Given the description of an element on the screen output the (x, y) to click on. 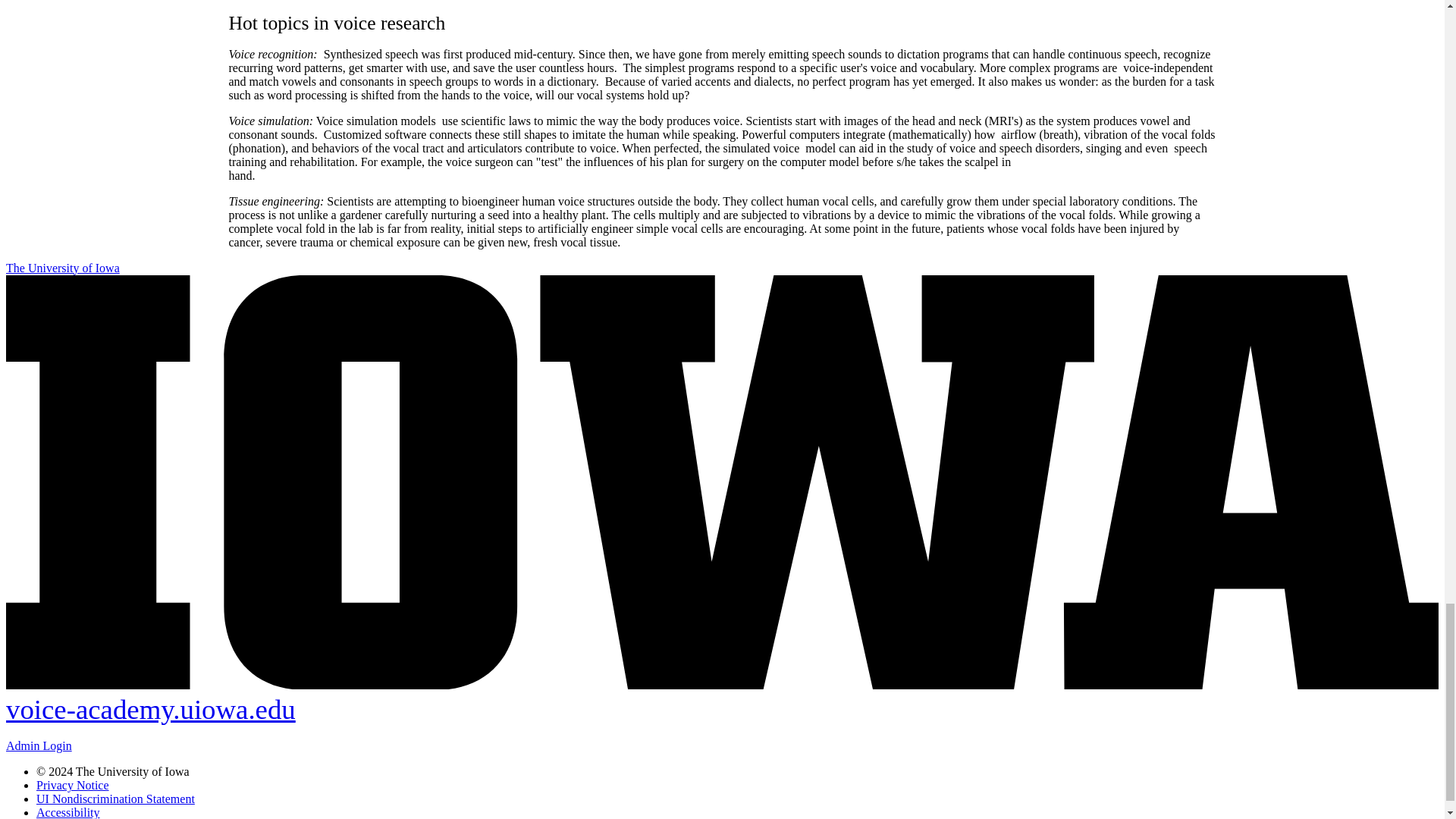
UI Nondiscrimination Statement (115, 798)
Admin Login (38, 745)
Privacy Notice (72, 784)
Accessibility (68, 812)
